Given the description of an element on the screen output the (x, y) to click on. 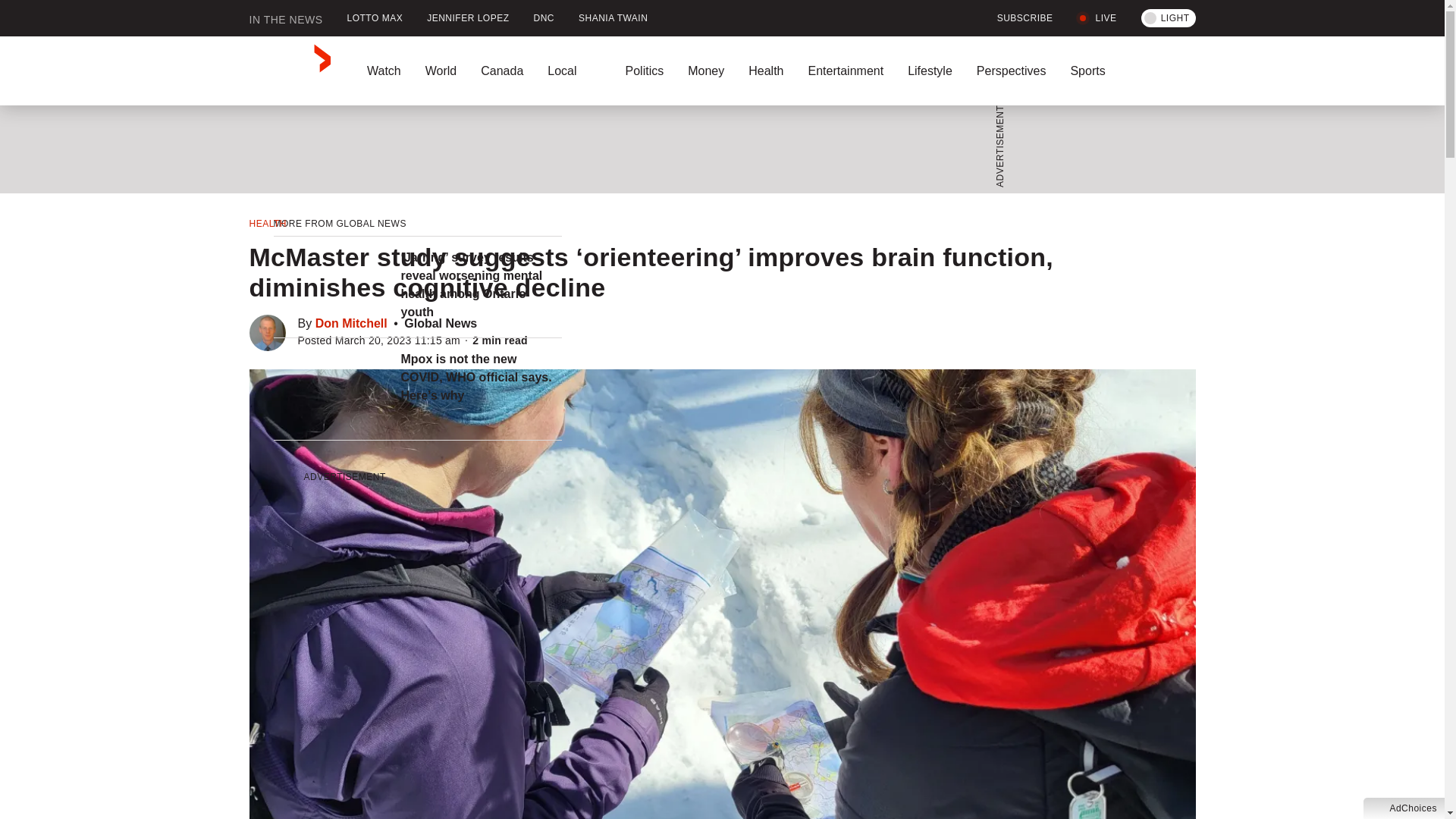
Canada (501, 70)
Politics (643, 70)
Perspectives (1010, 70)
JENNIFER LOPEZ (467, 18)
GlobalNews home (289, 70)
Lifestyle (929, 70)
SUBSCRIBE (1015, 18)
Posts by Don Mitchell (351, 323)
LOTTO MAX (374, 18)
